Given the description of an element on the screen output the (x, y) to click on. 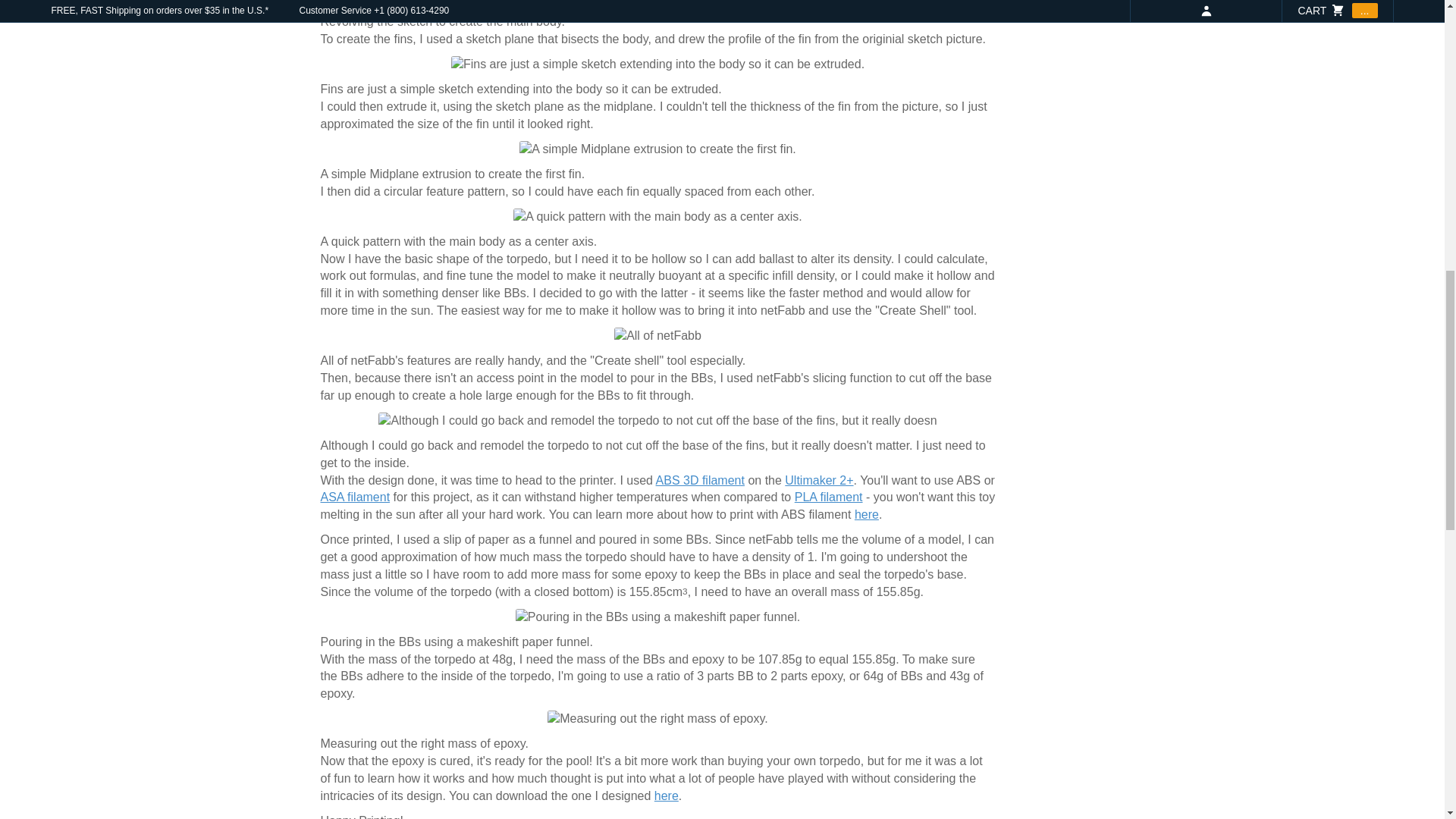
Revolving the sketch to create the main body. (657, 2)
A simple Midplane extrusion to create the first fin. (657, 149)
A quick pattern with the main body as a center axis. (657, 217)
Pouring in the BBs using a makeshift paper funnel. (657, 617)
Measuring out the right mass of epoxy. (657, 719)
All of netFabb (657, 335)
